Given the description of an element on the screen output the (x, y) to click on. 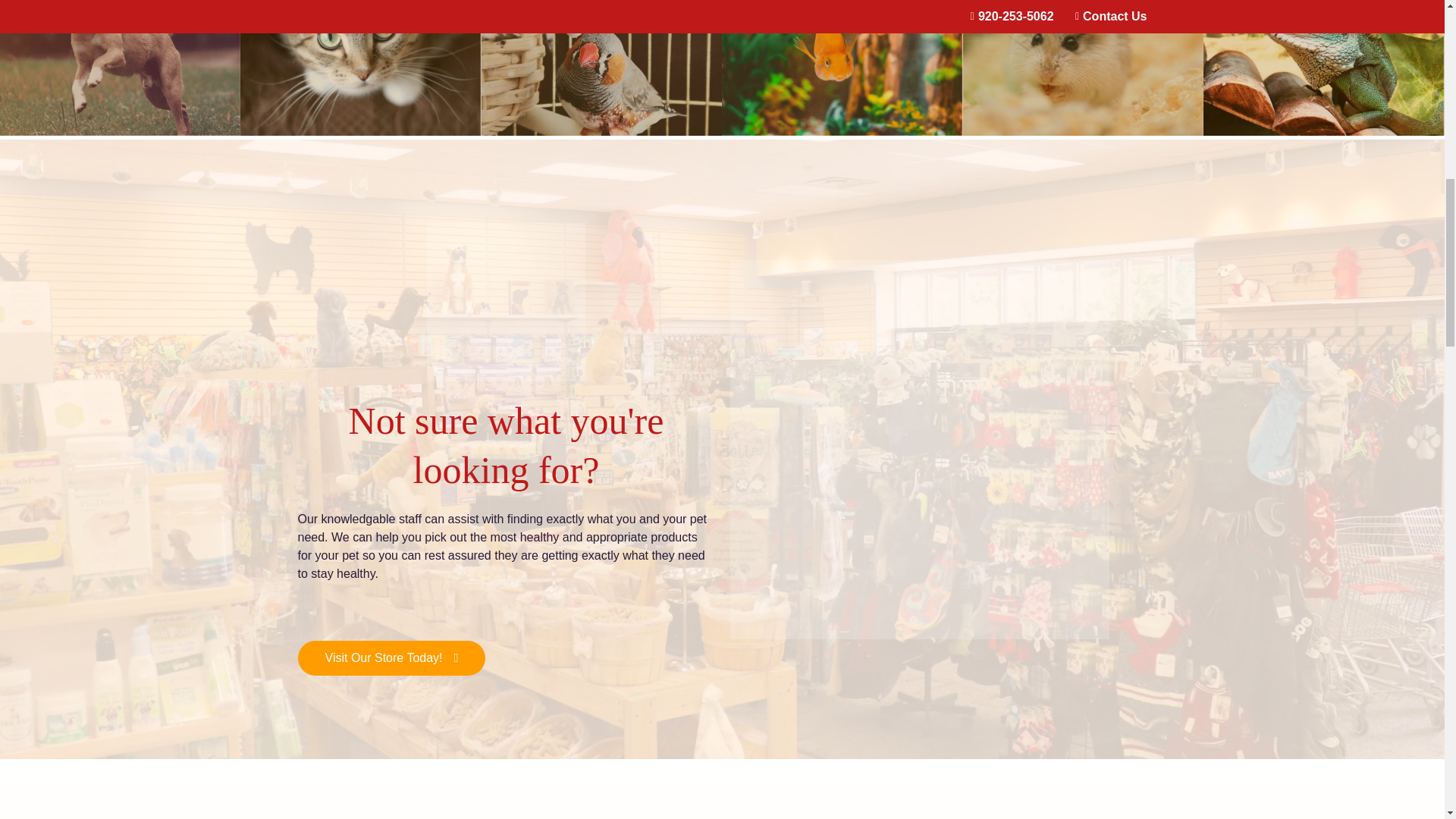
Dogs (120, 67)
Fish (842, 67)
pets about free img (937, 811)
Visit Our Store Today! (390, 657)
Cats (360, 67)
pidder padder paws watertown wi pet store (505, 301)
Small Animals (1083, 67)
Reptiles (1324, 67)
Indoor Birds (601, 67)
